Given the description of an element on the screen output the (x, y) to click on. 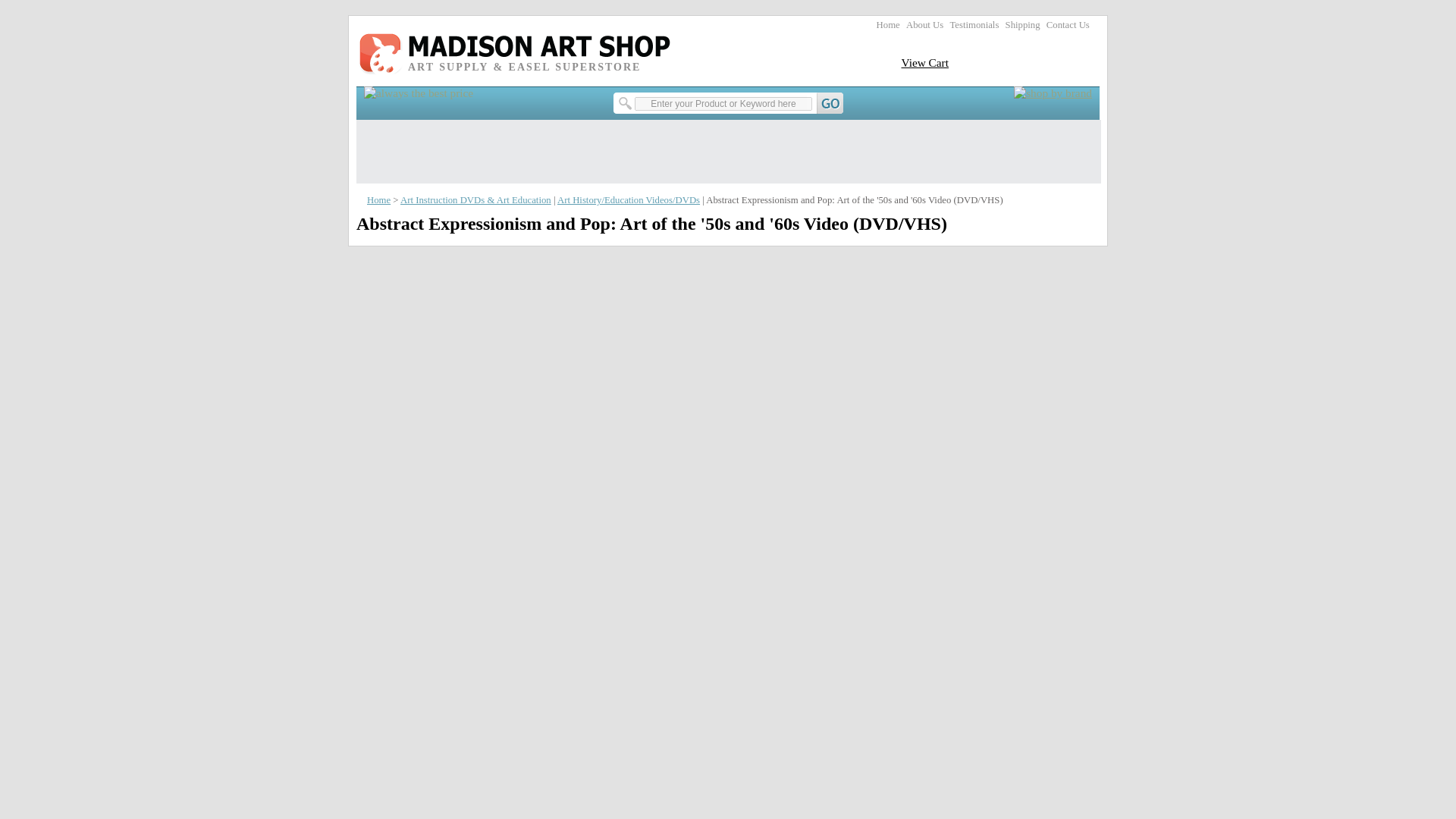
Home (378, 199)
Testimonials (973, 24)
About Us (924, 24)
Shipping (1023, 24)
View Cart (925, 62)
Contact Us (1067, 24)
Search (729, 102)
Enter your Product or Keyword here (723, 103)
Home (887, 24)
